Given the description of an element on the screen output the (x, y) to click on. 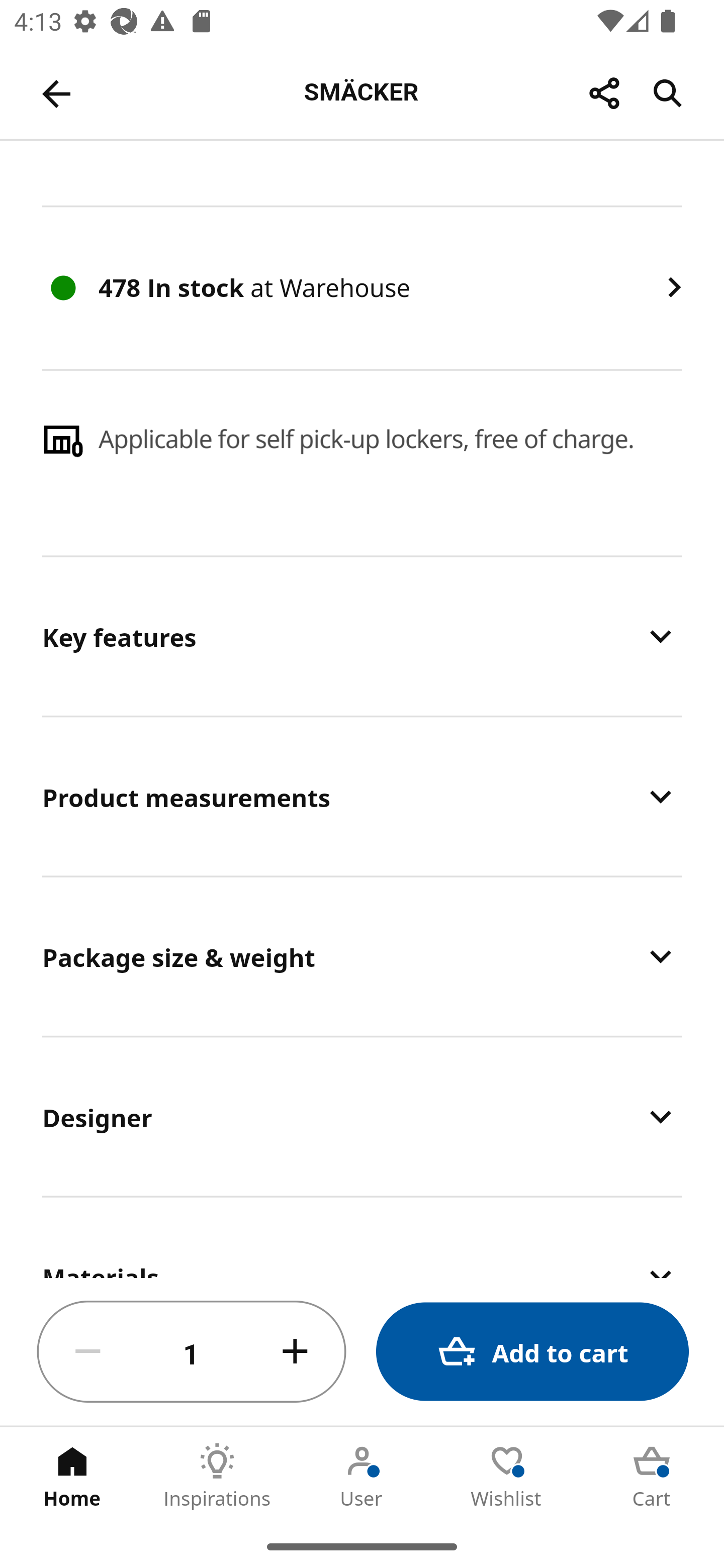
478 In stock at Warehouse (361, 287)
Key features (361, 635)
Product measurements (361, 796)
Package size & weight (361, 956)
Designer (361, 1116)
Add to cart (531, 1352)
1 (191, 1352)
Home
Tab 1 of 5 (72, 1476)
Inspirations
Tab 2 of 5 (216, 1476)
User
Tab 3 of 5 (361, 1476)
Wishlist
Tab 4 of 5 (506, 1476)
Cart
Tab 5 of 5 (651, 1476)
